Given the description of an element on the screen output the (x, y) to click on. 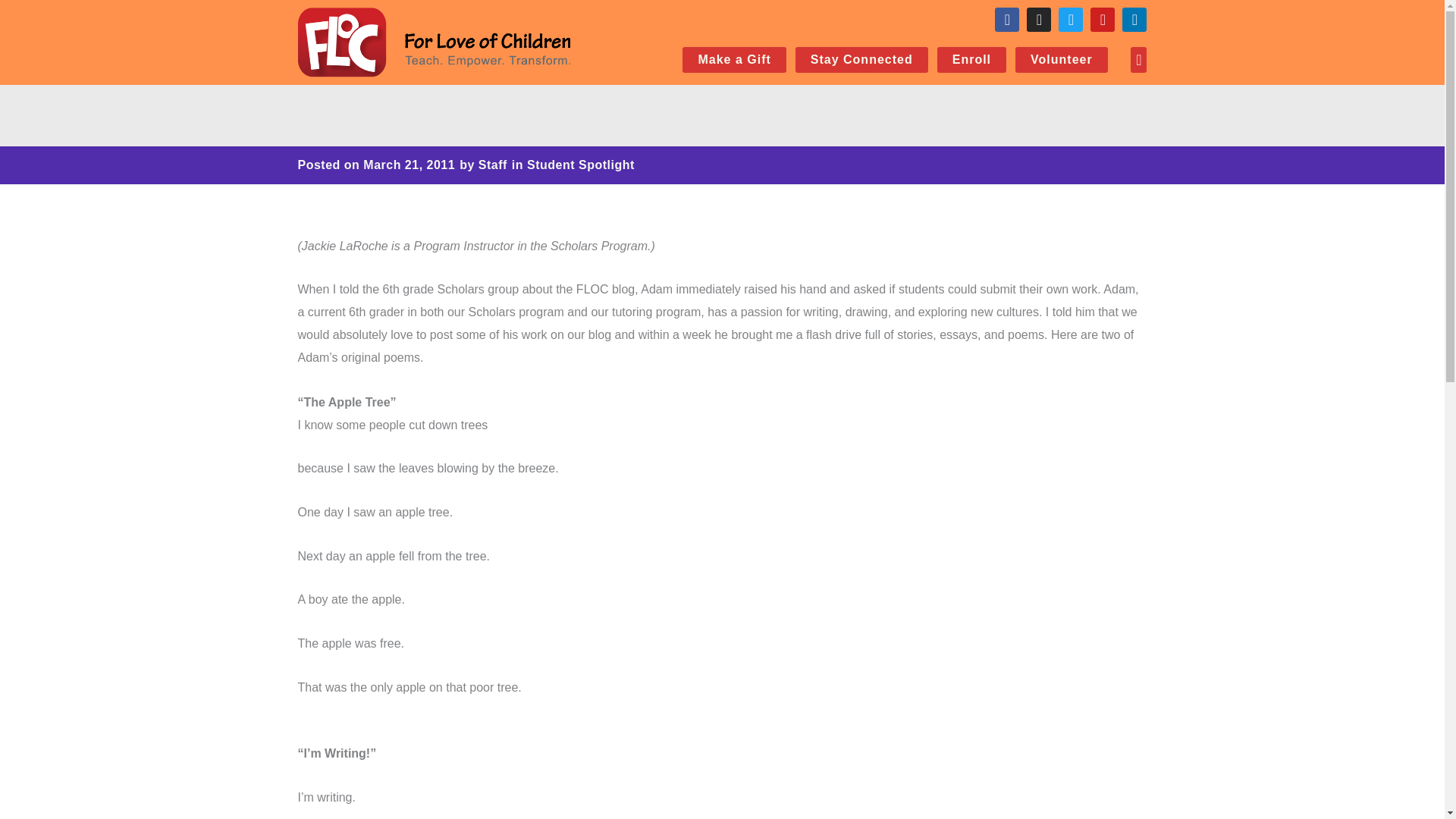
Linkedin (1134, 19)
Volunteer (1061, 59)
Enroll (971, 59)
Twitter (1070, 19)
Make a Gift (734, 59)
Facebook (1006, 19)
Stay Connected (861, 59)
Instagram (1038, 19)
Youtube (1102, 19)
